Given the description of an element on the screen output the (x, y) to click on. 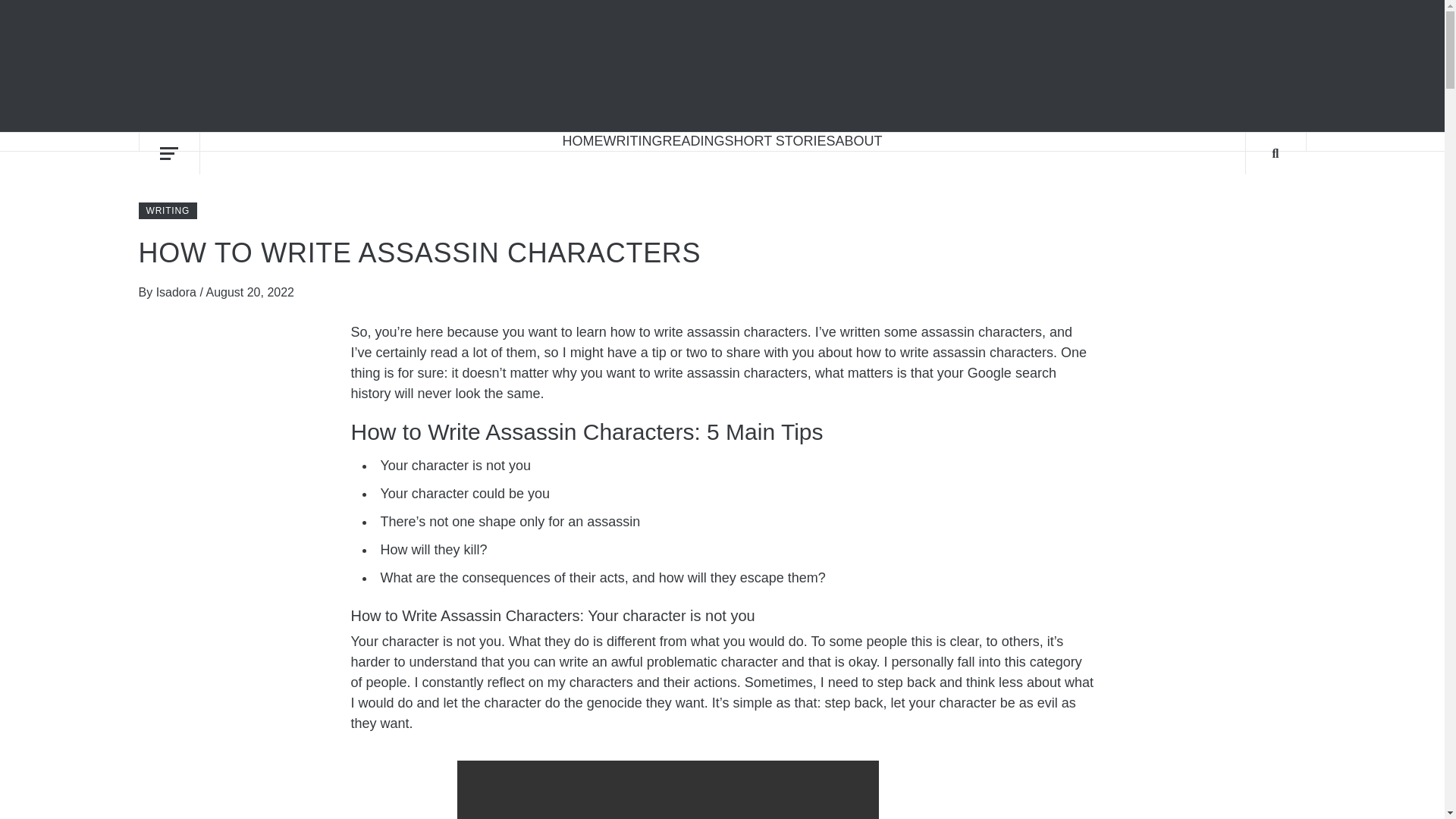
READING (692, 140)
WRITING (167, 210)
ABOUT (858, 140)
HOME (582, 140)
Isadora (177, 291)
Home (582, 140)
WRITING (632, 140)
SHORT STORIES (778, 140)
